Given the description of an element on the screen output the (x, y) to click on. 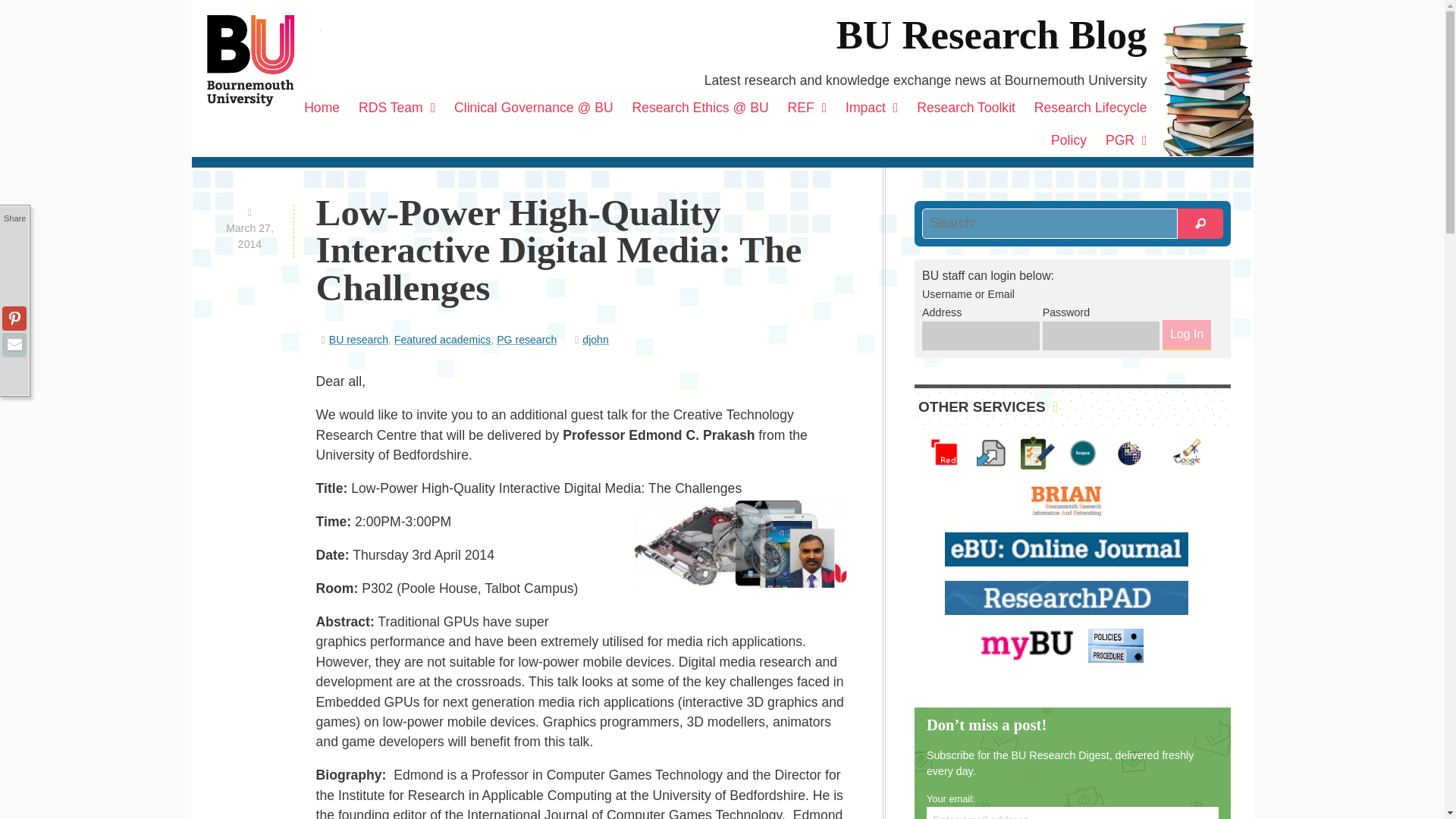
Enter email address... (1072, 812)
Research Toolkit (965, 107)
Bournemouth University home page (263, 60)
BU Research Blog (991, 34)
Posts by djohn (595, 339)
Home (322, 107)
Search (1200, 223)
Impact (871, 107)
Bournemouth University (263, 60)
RDS Team (396, 107)
Log In (1186, 335)
REF (807, 107)
